Given the description of an element on the screen output the (x, y) to click on. 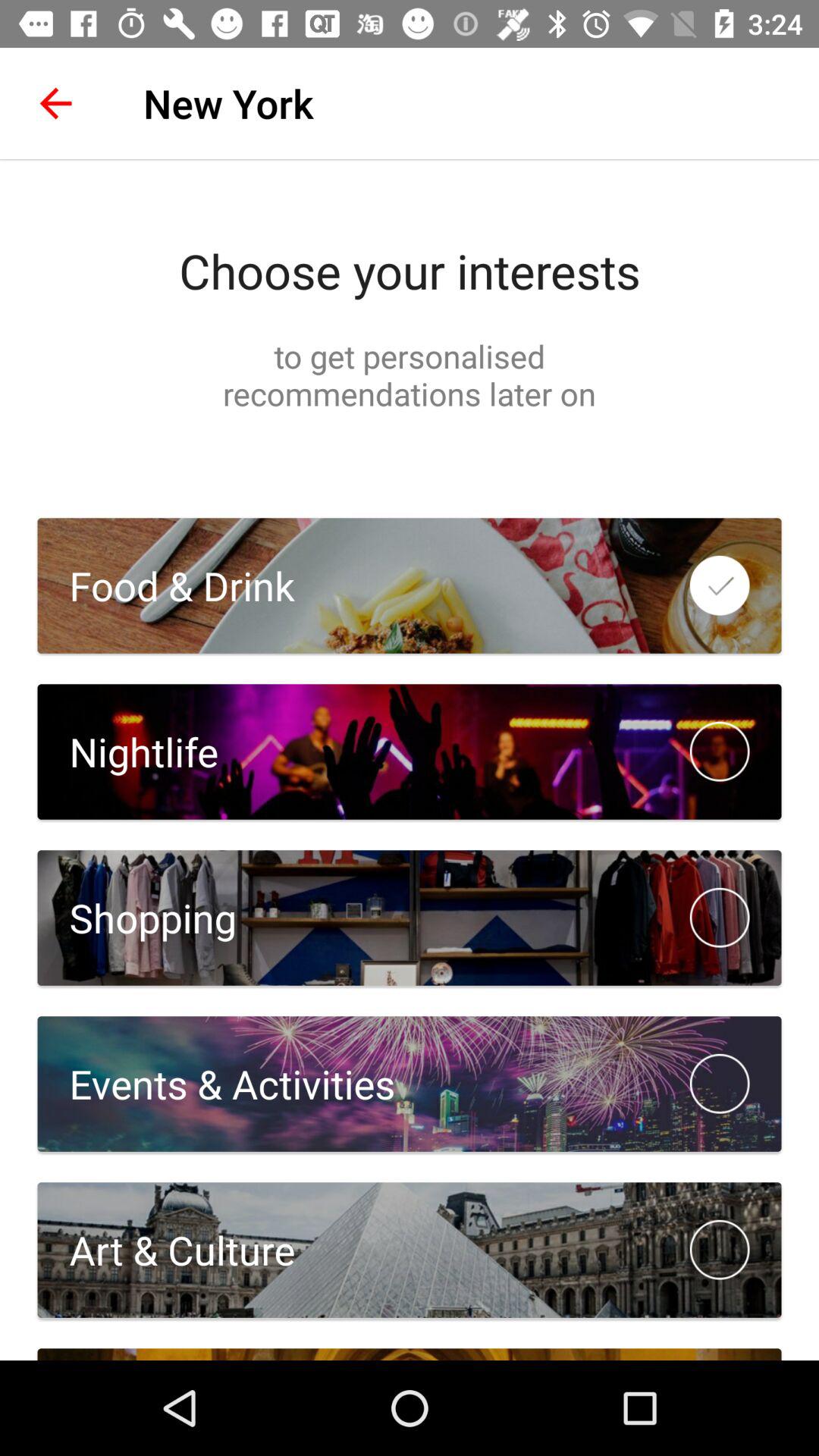
open icon below choose your interests item (409, 374)
